Given the description of an element on the screen output the (x, y) to click on. 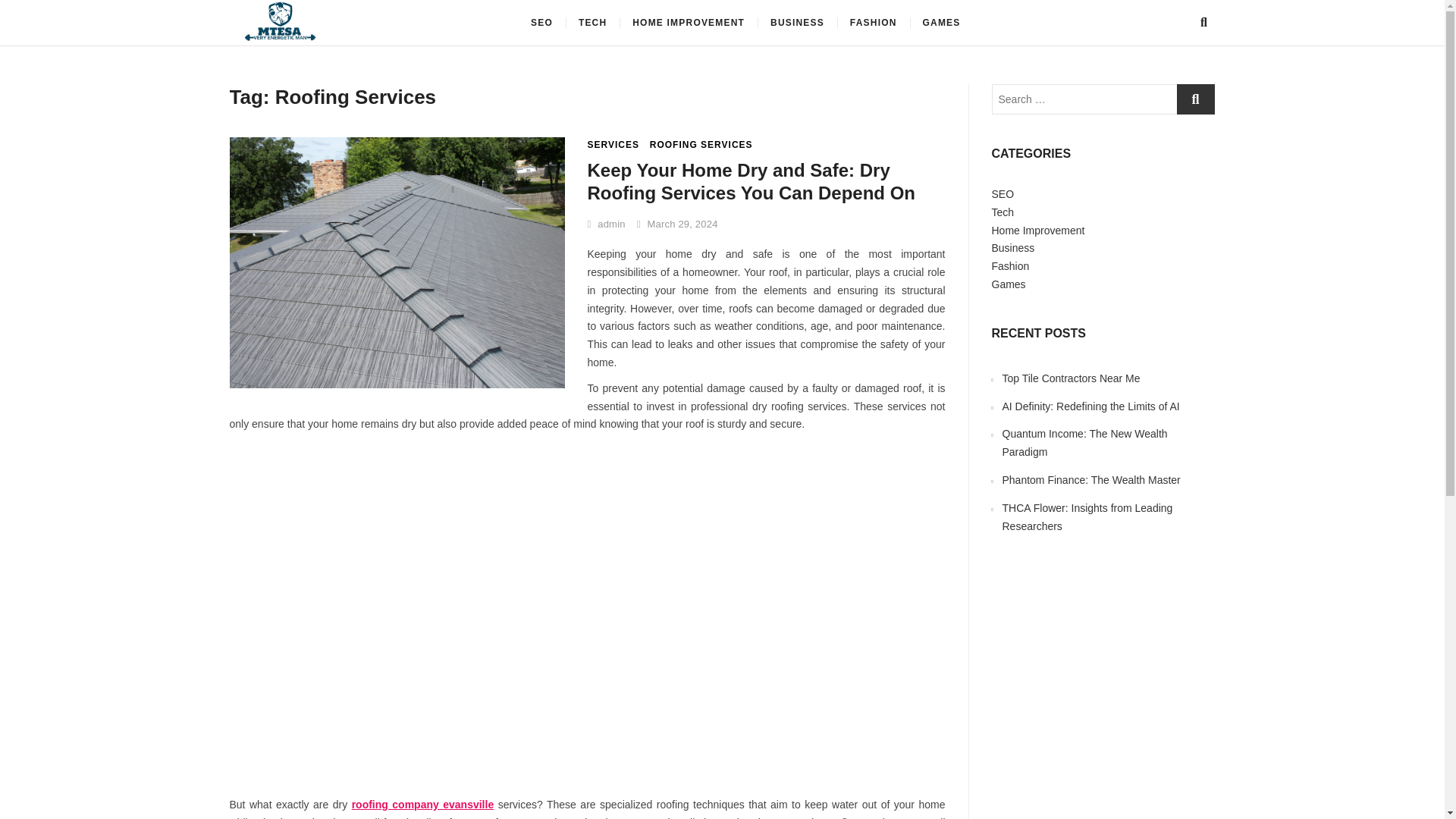
ROOFING SERVICES (700, 144)
Tech (1002, 212)
Phantom Finance: The Wealth Master (1091, 480)
Mtesa (374, 27)
SEO (1002, 193)
SEO (541, 22)
Games (1008, 284)
roofing company evansville (423, 804)
Quantum Income: The New Wealth Paradigm (1085, 442)
admin (605, 224)
Fashion (1010, 265)
HOME IMPROVEMENT (688, 22)
Top Tile Contractors Near Me (1071, 378)
